Given the description of an element on the screen output the (x, y) to click on. 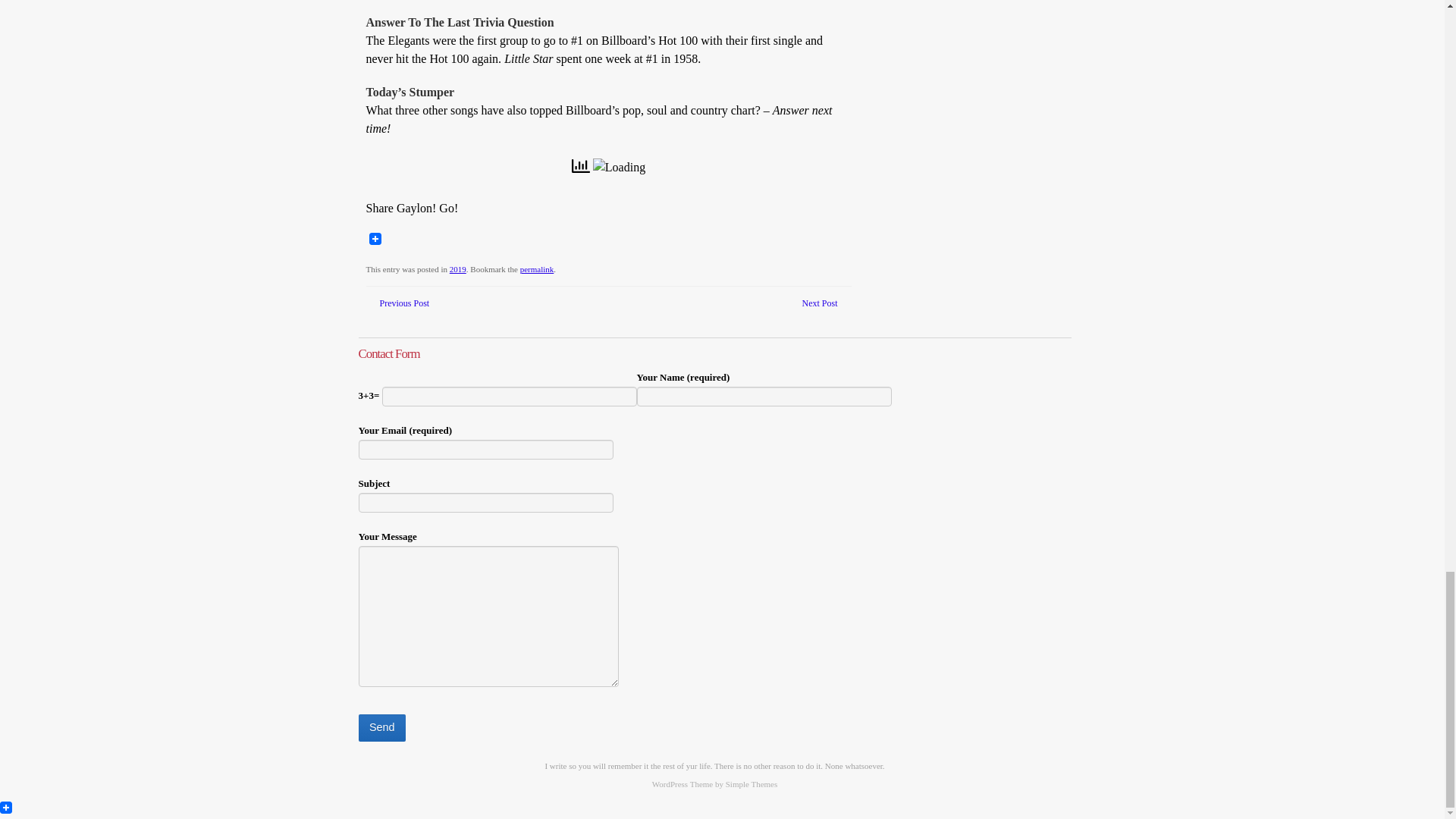
Previous Post (403, 303)
Simple WordPress Themes (751, 783)
2019 (457, 268)
permalink (536, 268)
Next Post (819, 303)
Send (381, 728)
